Given the description of an element on the screen output the (x, y) to click on. 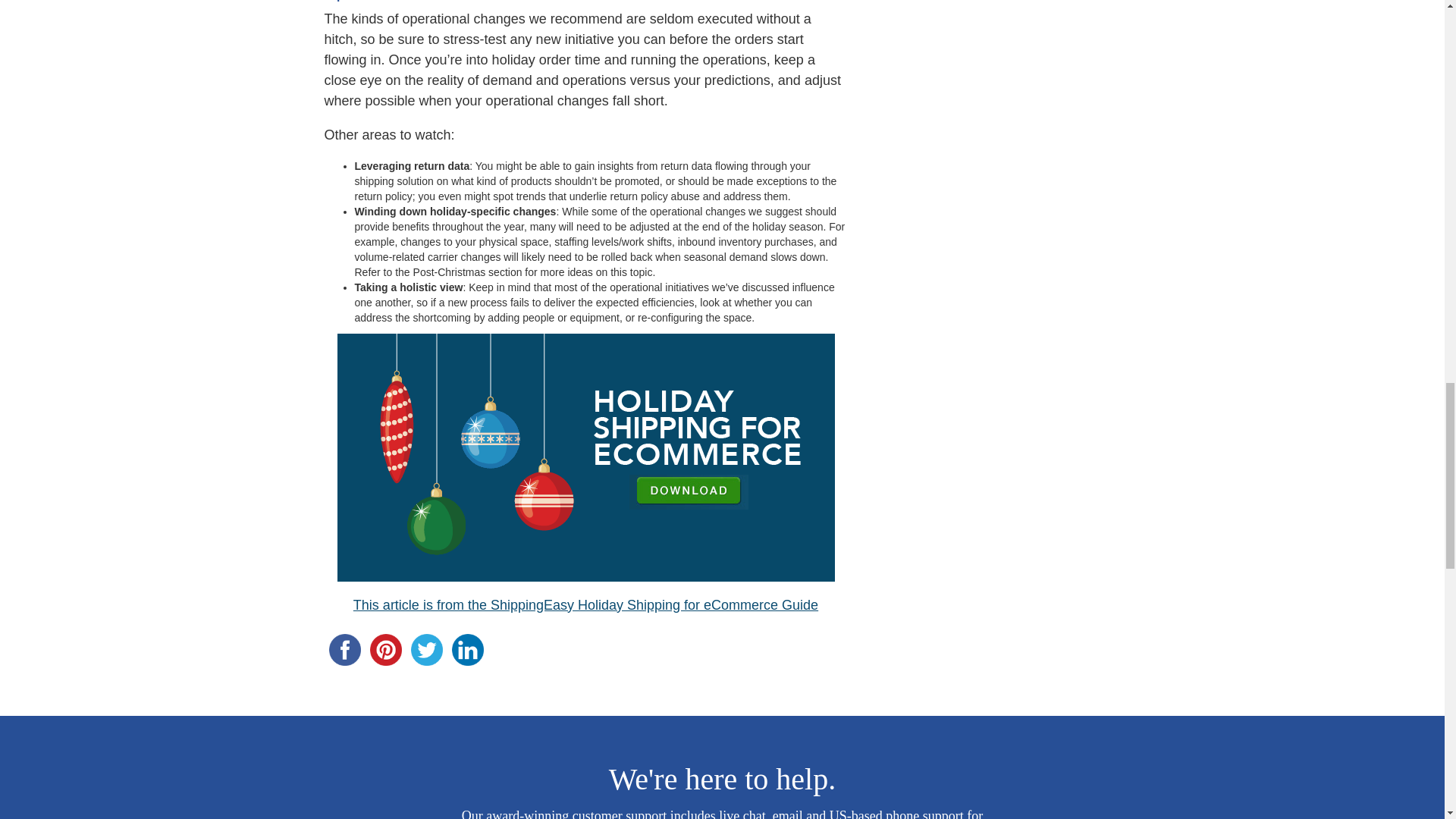
pinterest (385, 649)
linkedin (466, 649)
facebook (344, 649)
twitter (426, 649)
